Given the description of an element on the screen output the (x, y) to click on. 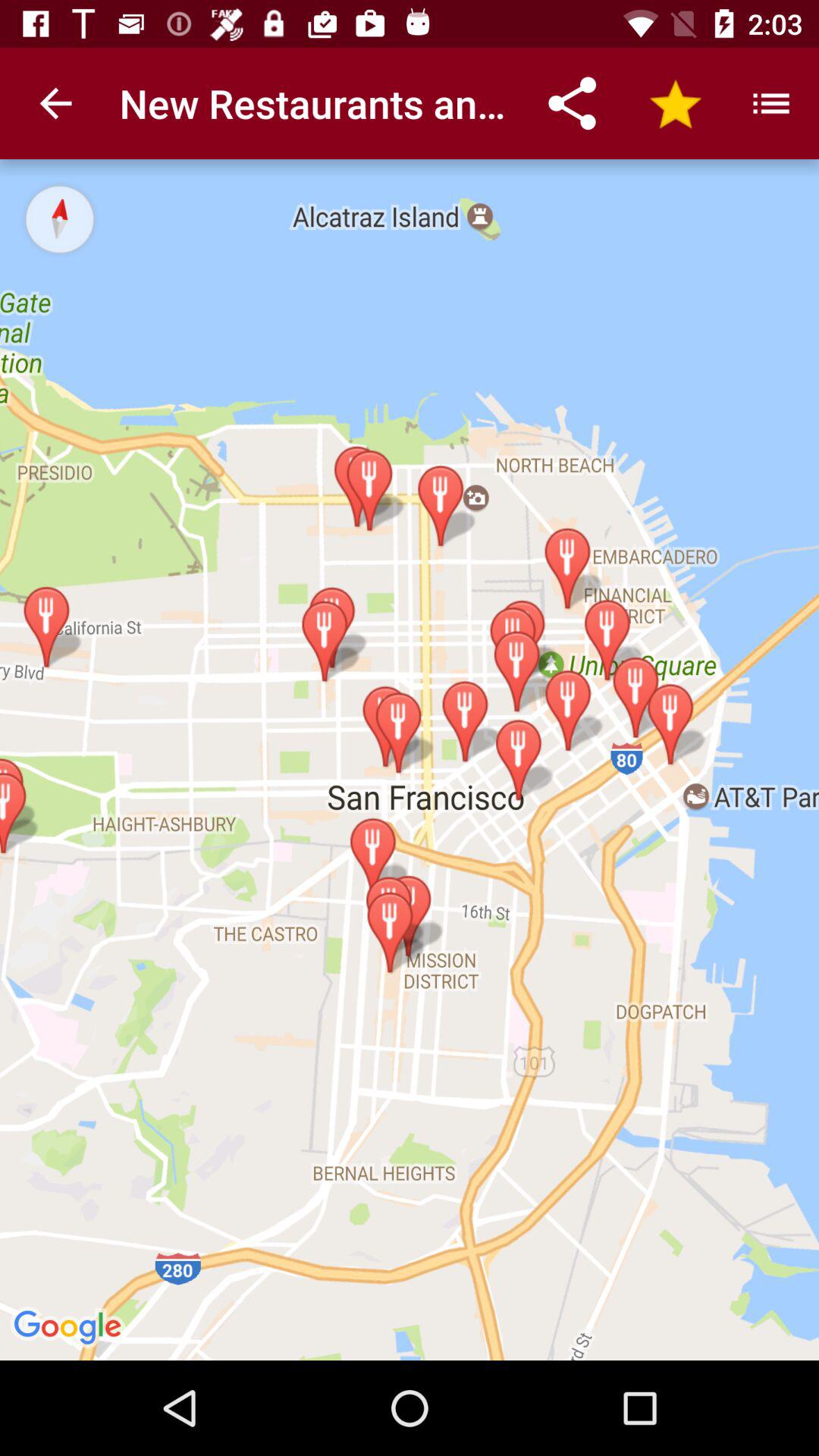
click the icon to the left of the new restaurants and icon (55, 103)
